Given the description of an element on the screen output the (x, y) to click on. 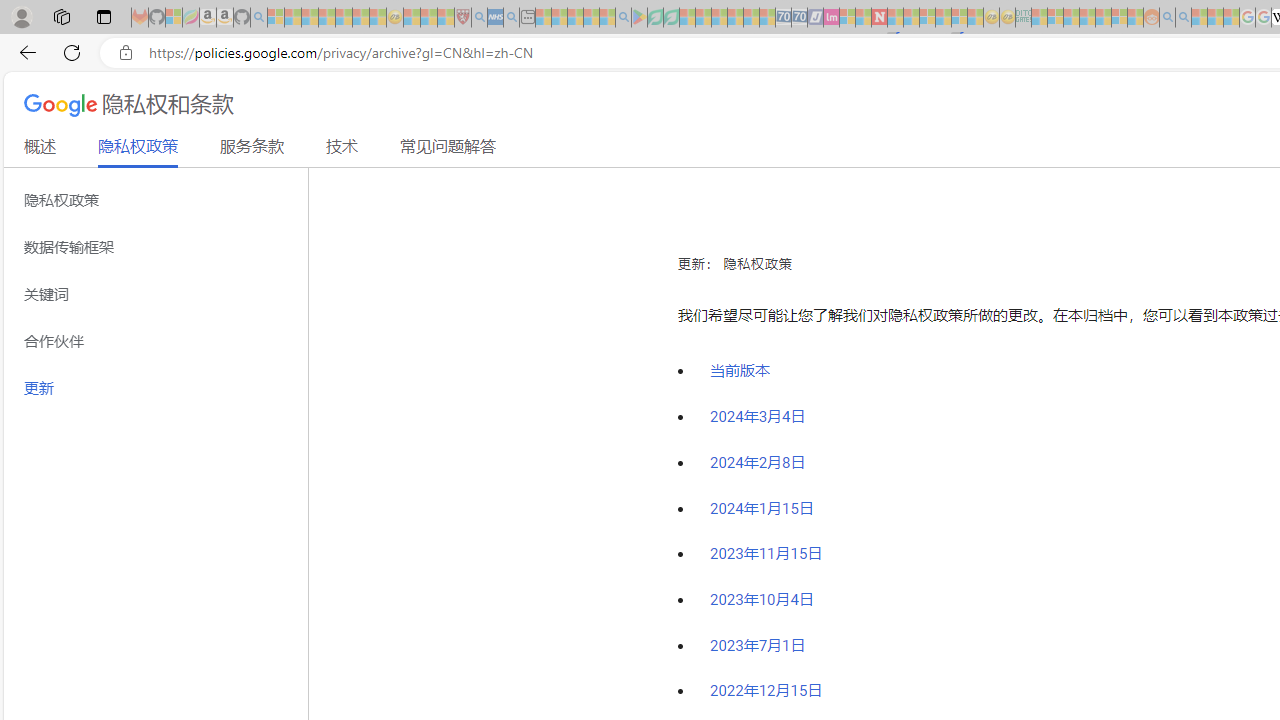
MSNBC - MSN - Sleeping (1039, 17)
14 Common Myths Debunked By Scientific Facts - Sleeping (911, 17)
Expert Portfolios - Sleeping (1087, 17)
The Weather Channel - MSN - Sleeping (309, 17)
